Given the description of an element on the screen output the (x, y) to click on. 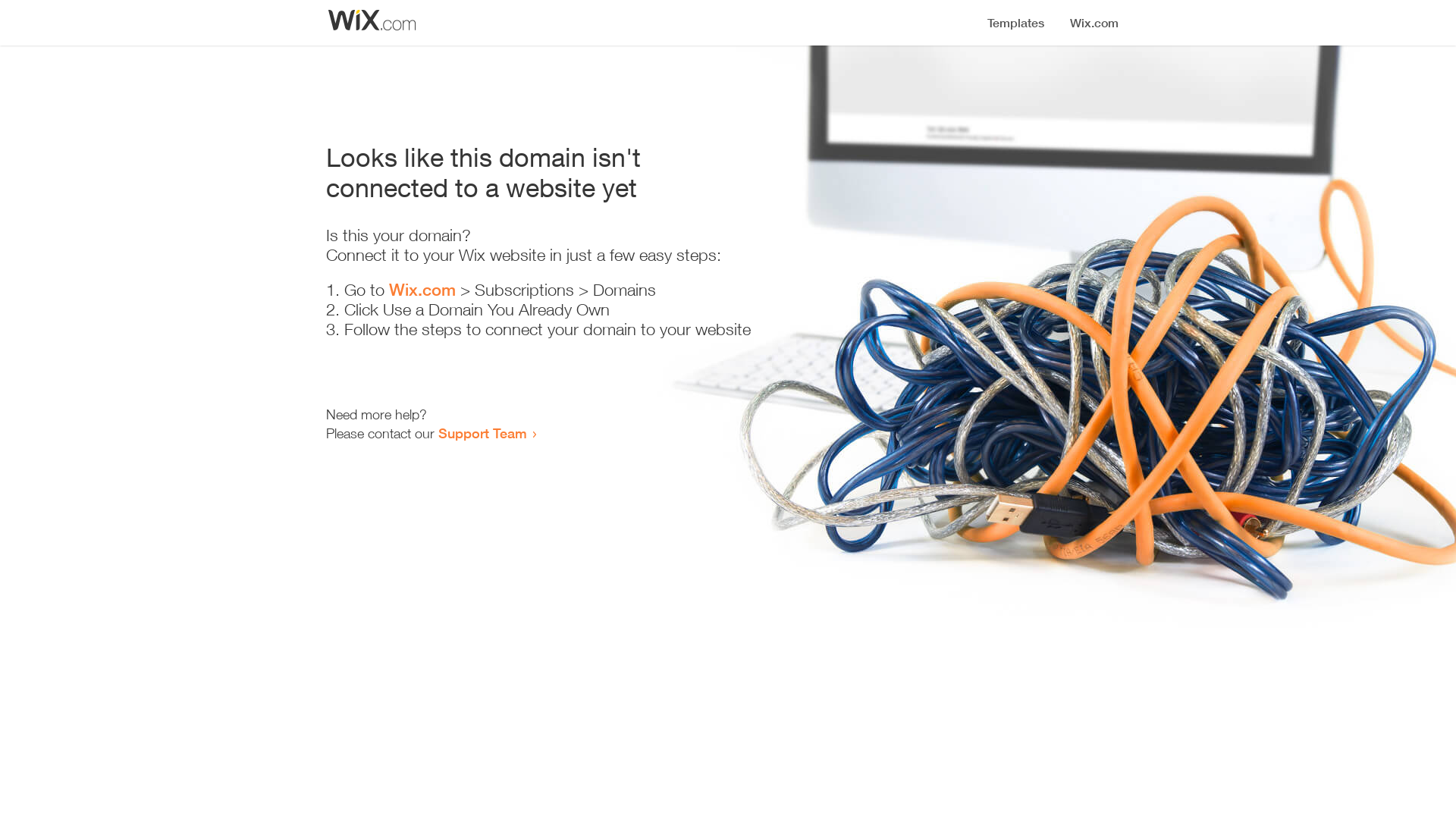
Wix.com Element type: text (422, 289)
Support Team Element type: text (482, 432)
